Given the description of an element on the screen output the (x, y) to click on. 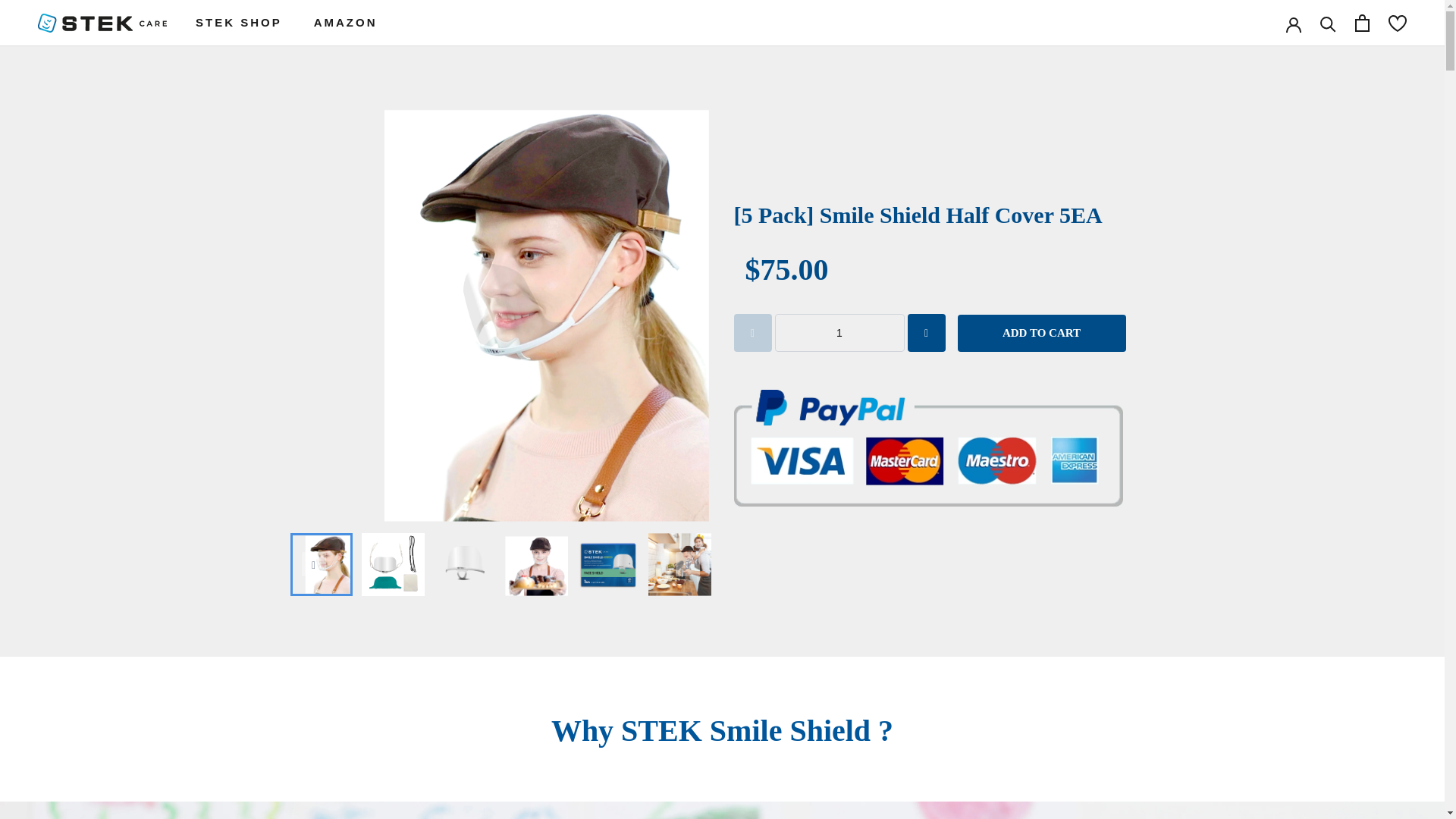
ADD TO CART (345, 21)
1 (1040, 333)
